Given the description of an element on the screen output the (x, y) to click on. 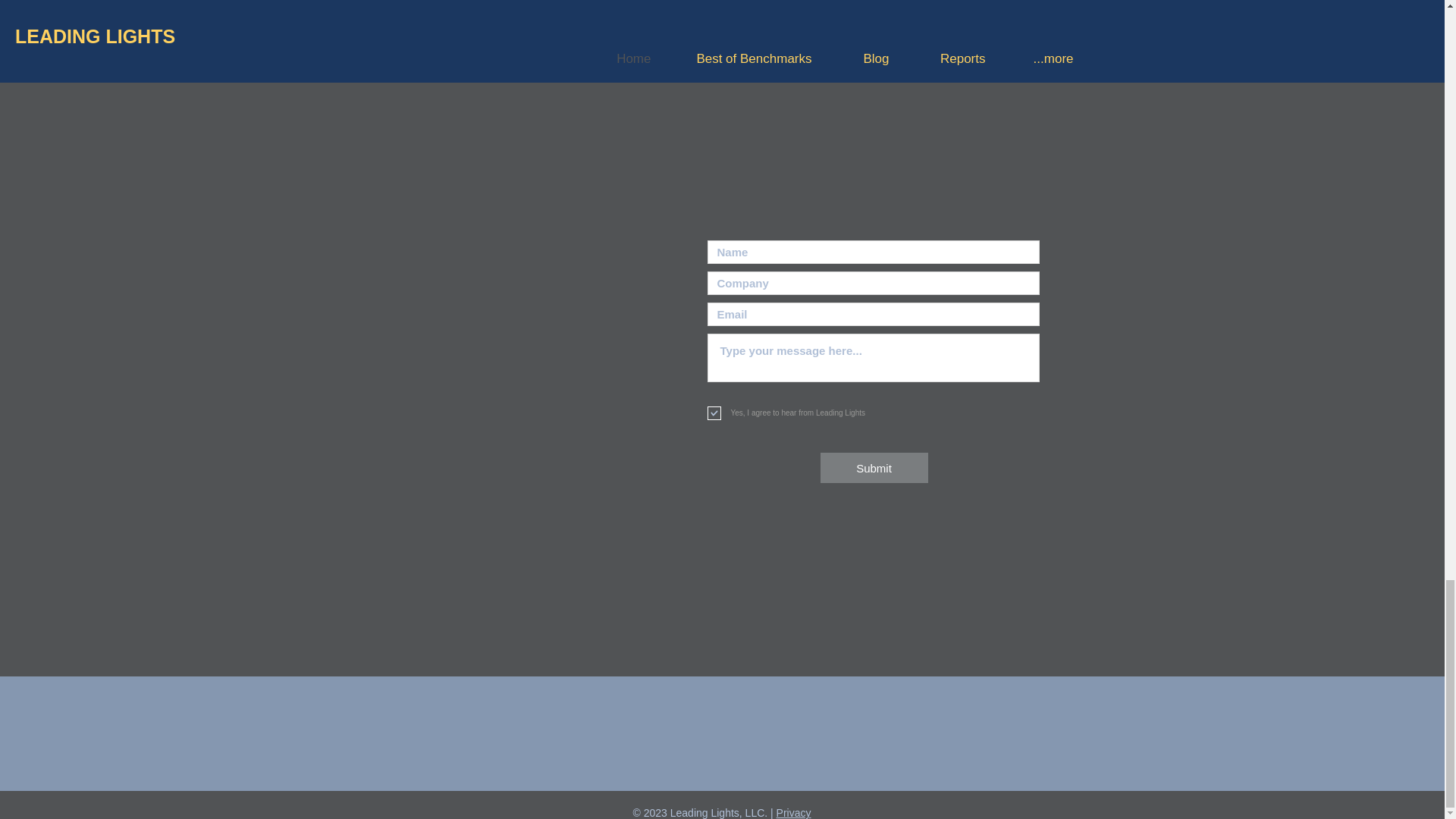
Submit (874, 467)
